Given the description of an element on the screen output the (x, y) to click on. 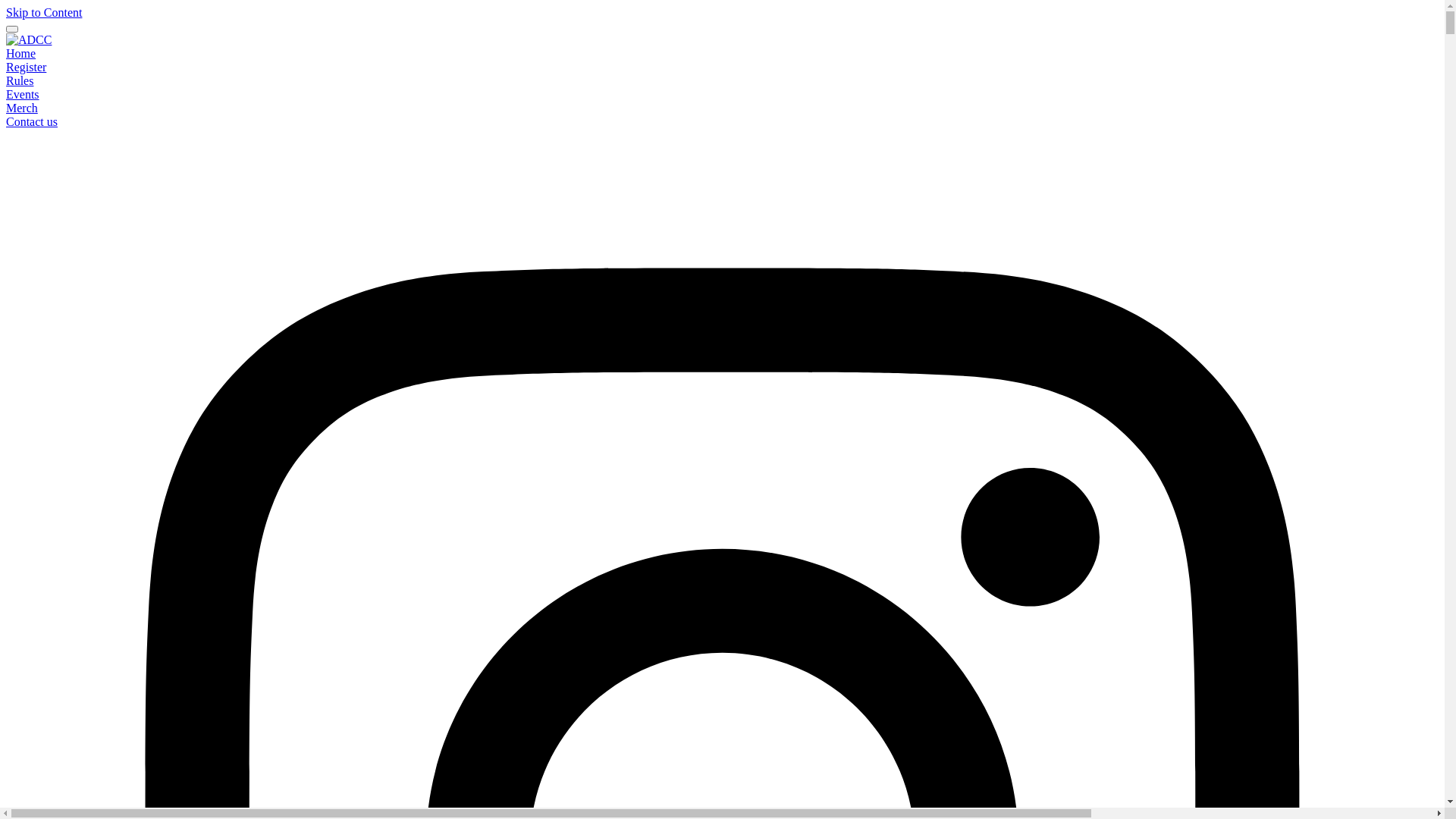
Home Element type: text (20, 53)
Contact us Element type: text (31, 121)
Events Element type: text (22, 93)
Rules Element type: text (19, 80)
Merch Element type: text (21, 107)
Skip to Content Element type: text (43, 12)
Register Element type: text (26, 66)
